Given the description of an element on the screen output the (x, y) to click on. 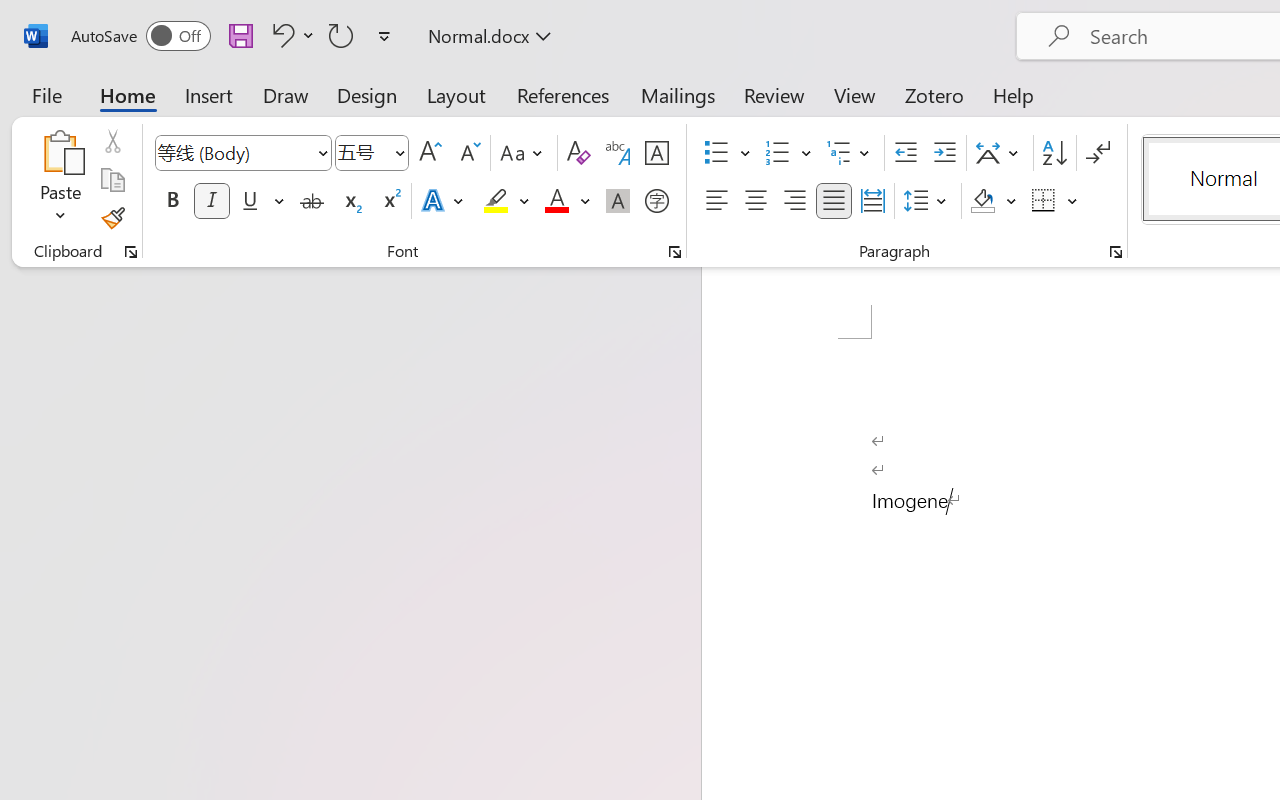
Format Painter (112, 218)
Strikethrough (312, 201)
Shading (993, 201)
Clear Formatting (578, 153)
Superscript (390, 201)
Undo Italic (280, 35)
Text Highlight Color Yellow (495, 201)
